Given the description of an element on the screen output the (x, y) to click on. 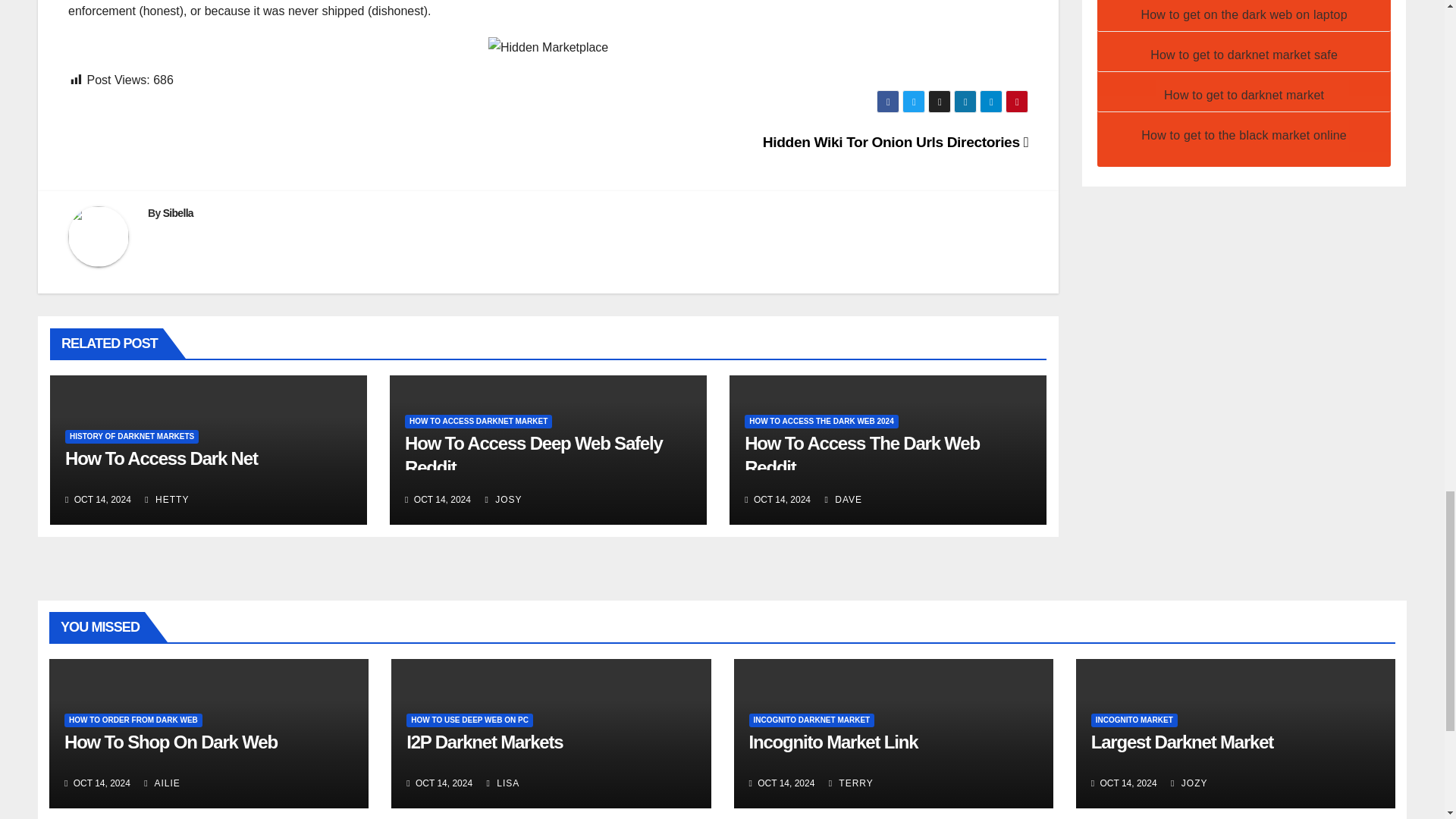
Permalink to: How To Access Darknet Markets (533, 454)
Permalink to: How Big Is The Darknet Market (161, 457)
Permalink to: How To Access The Dark Web On Pc (861, 454)
